Given the description of an element on the screen output the (x, y) to click on. 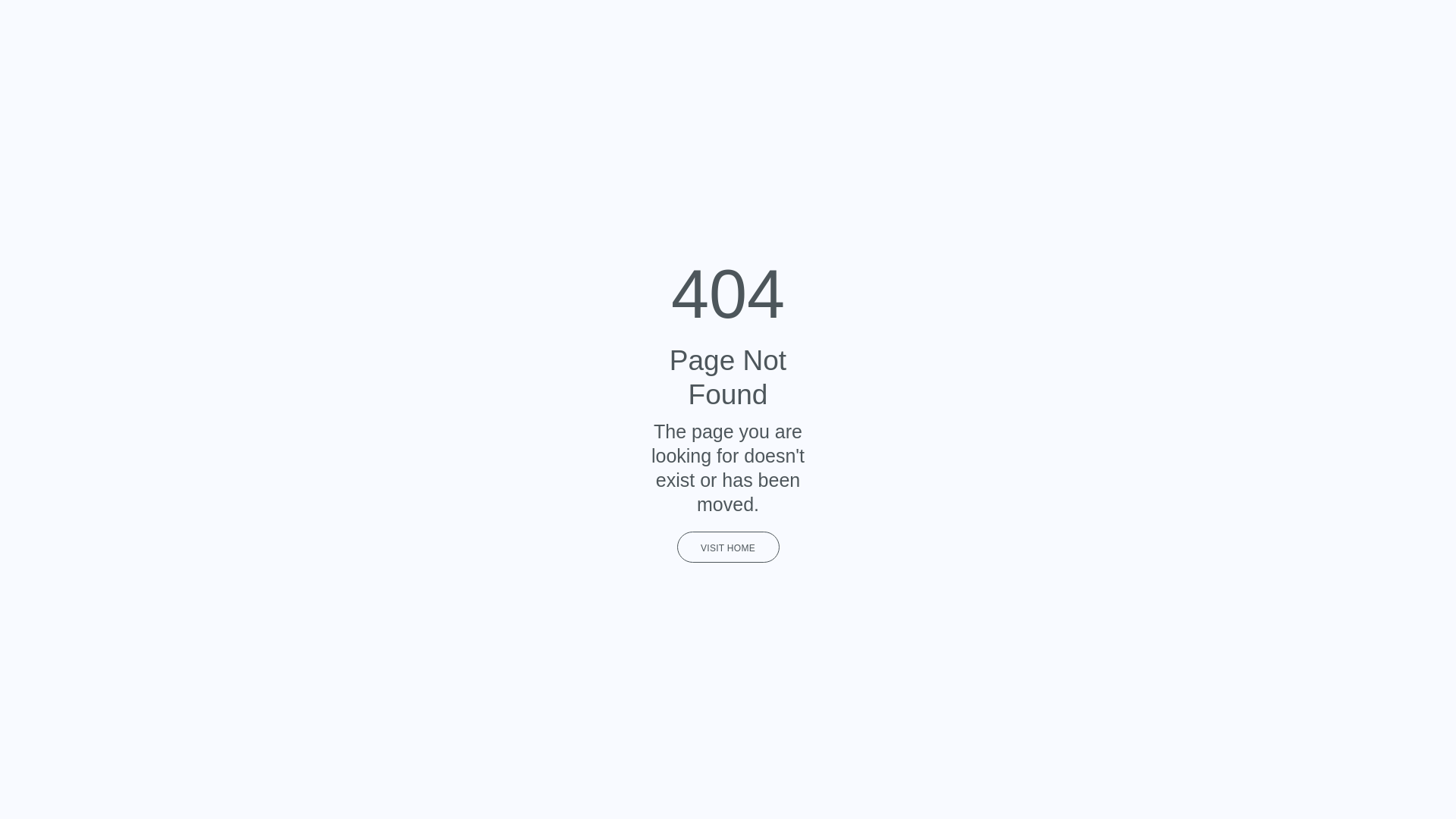
VISIT HOME Element type: text (727, 546)
